Given the description of an element on the screen output the (x, y) to click on. 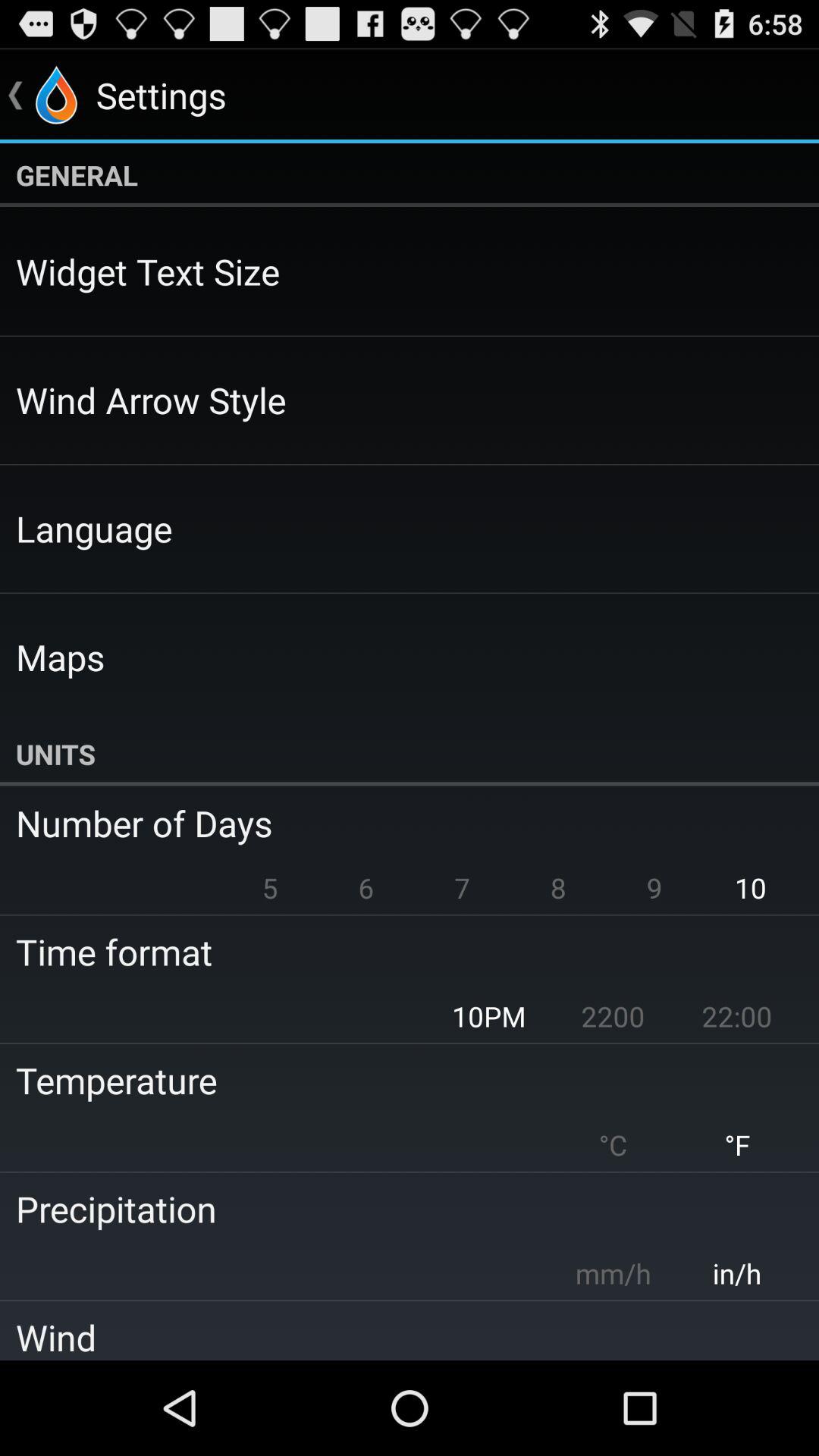
select item below 10pm icon (399, 1080)
